Given the description of an element on the screen output the (x, y) to click on. 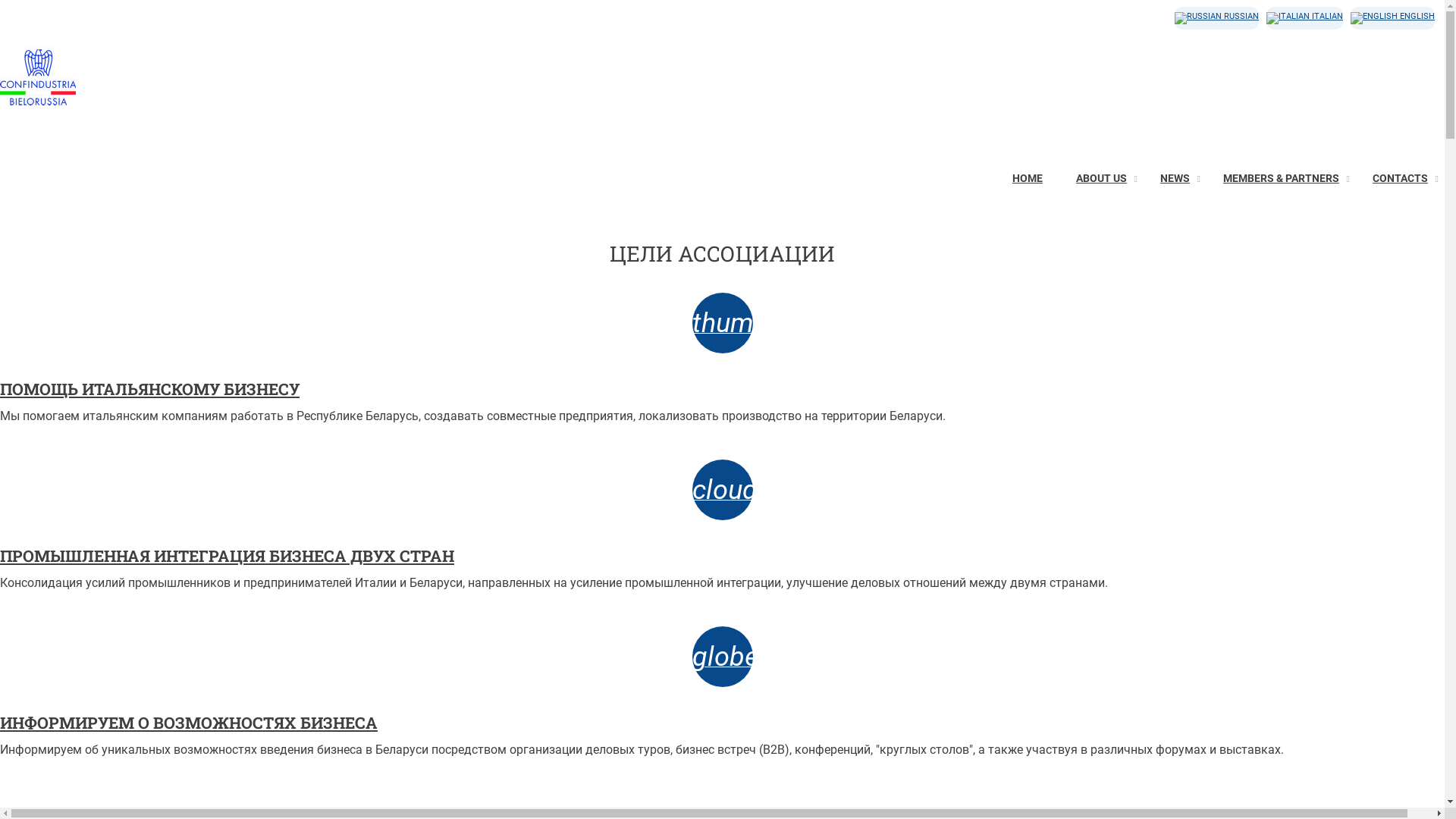
Home Element type: hover (37, 110)
Italian Element type: hover (1287, 18)
ABOUT US Element type: text (1101, 178)
MEMBERS & PARTNERS Element type: text (1281, 178)
CONTACTS Element type: text (1399, 178)
thumbs-up Element type: text (721, 322)
HOME Element type: text (1027, 178)
globe Element type: text (721, 656)
RUSSIAN Element type: text (1216, 17)
ITALIAN Element type: text (1304, 17)
ENGLISH Element type: text (1392, 17)
Russian Element type: hover (1197, 18)
English Element type: hover (1373, 18)
NEWS Element type: text (1174, 178)
Skip to main content Element type: text (0, 0)
cloud-download Element type: text (721, 489)
